Given the description of an element on the screen output the (x, y) to click on. 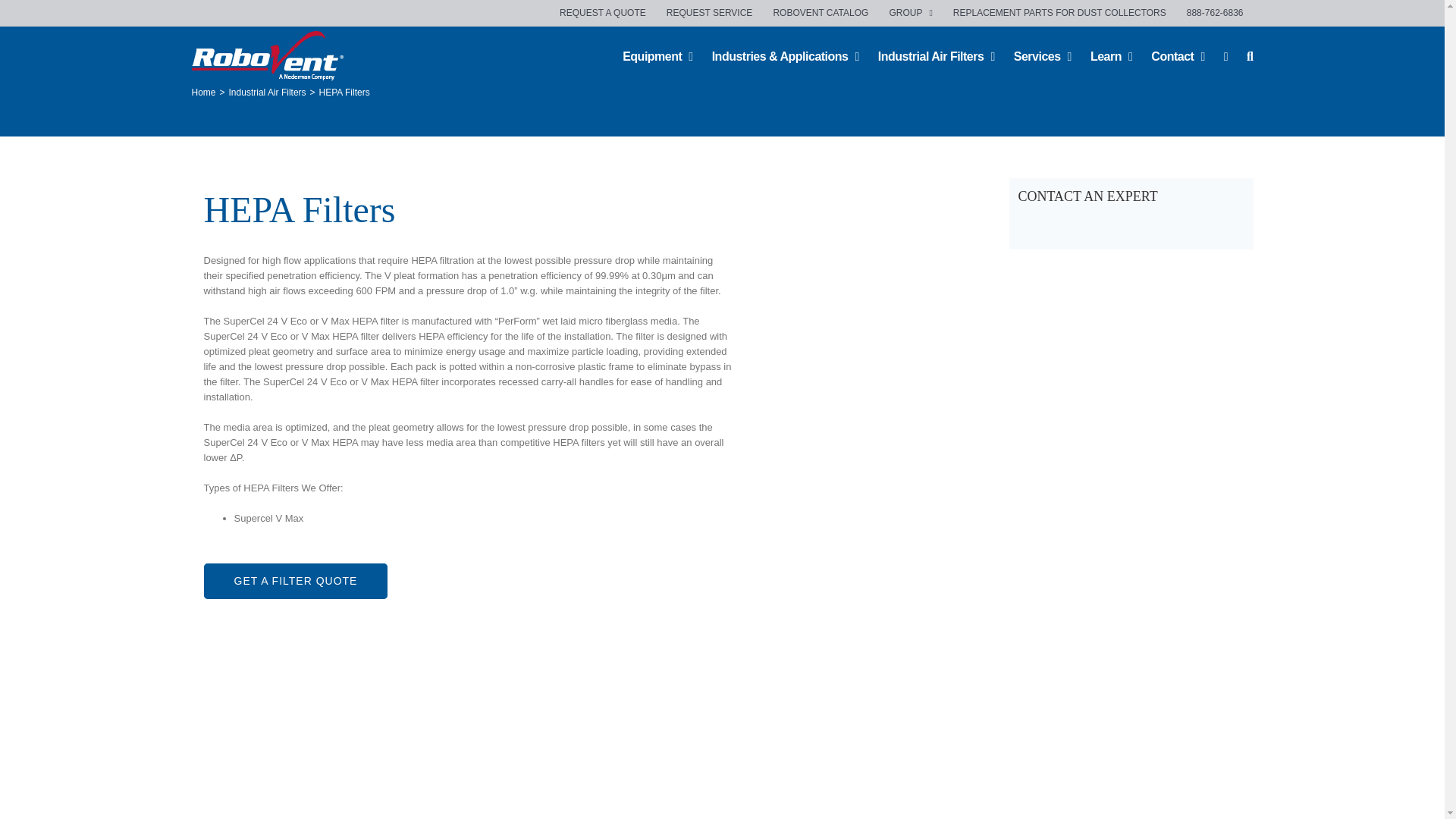
REQUEST SERVICE (709, 12)
REQUEST A QUOTE (603, 12)
Equipment (658, 55)
ROBOVENT CATALOG (819, 12)
Get a Filter Quote (295, 580)
REPLACEMENT PARTS FOR DUST COLLECTORS (1059, 12)
888-762-6836 (1214, 12)
GROUP (910, 12)
